Given the description of an element on the screen output the (x, y) to click on. 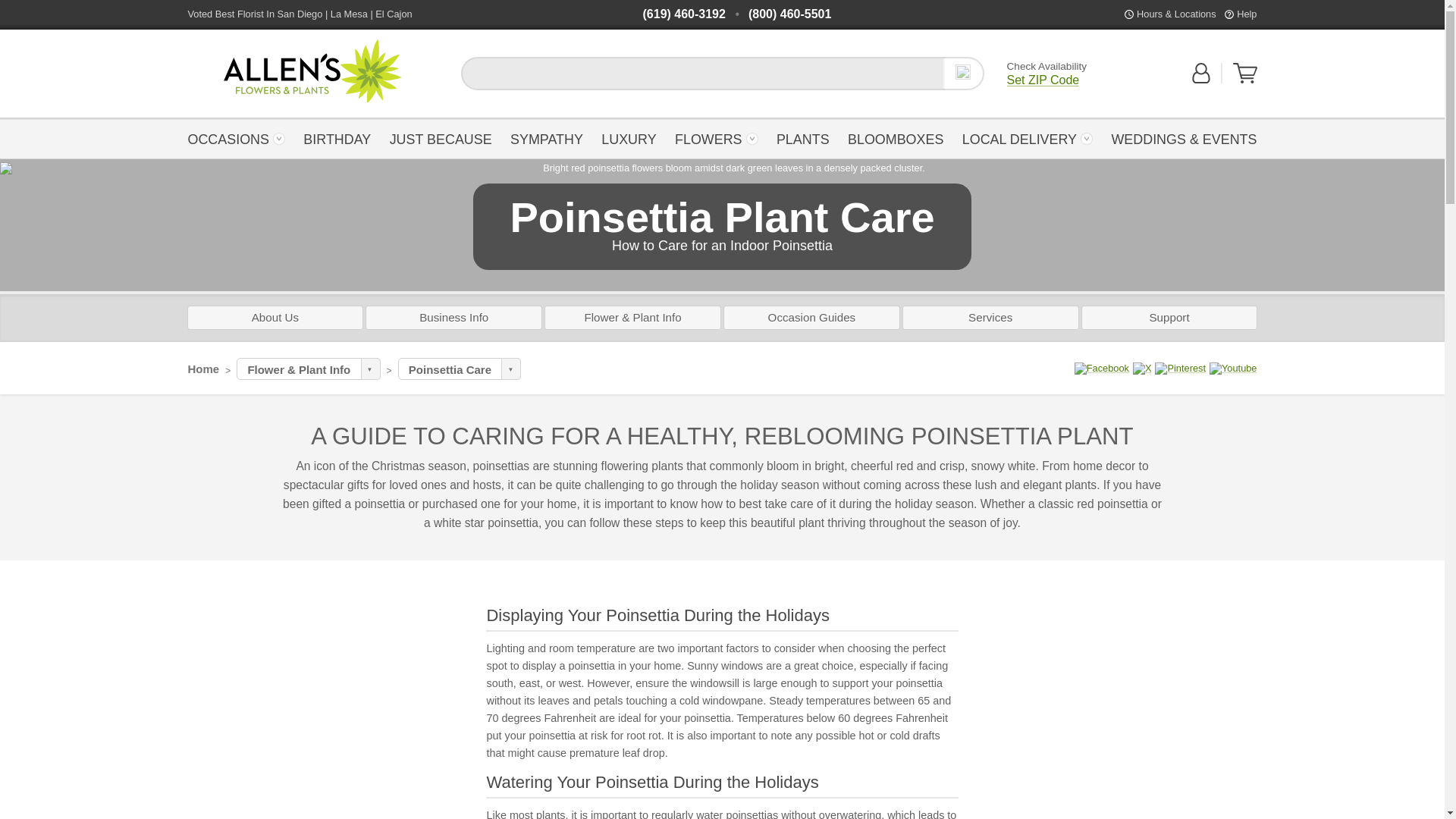
View Your Shopping Cart (1245, 80)
Allen's Florist and Plants Logo (312, 71)
Back to the Home Page (312, 71)
View Your Shopping Cart (1245, 73)
Set ZIP Code (1043, 80)
Help (1246, 13)
Search (963, 73)
OCCASIONS (240, 137)
